Given the description of an element on the screen output the (x, y) to click on. 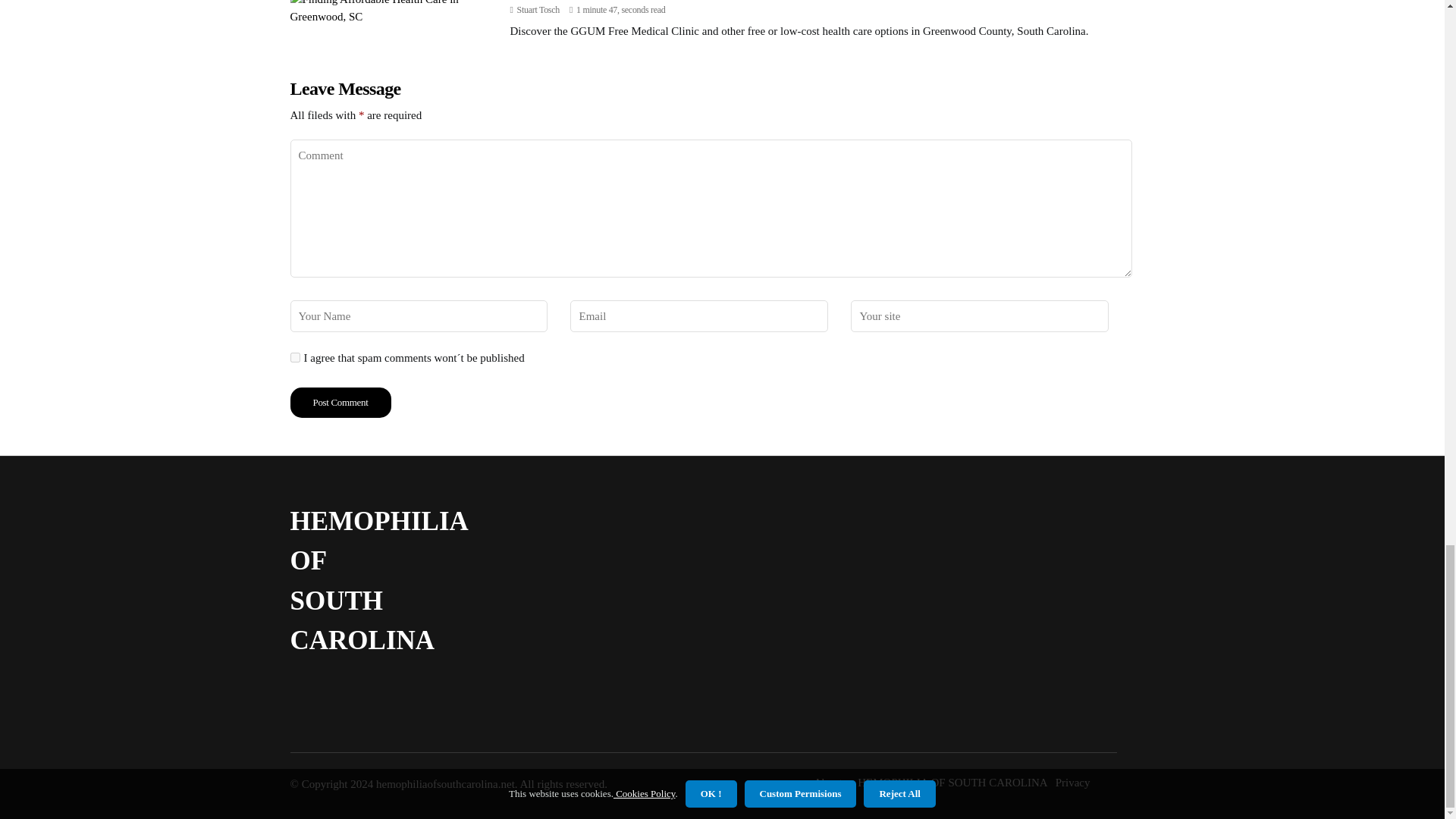
Post Comment (339, 402)
Stuart Tosch (537, 9)
Posts by Stuart Tosch (537, 9)
yes (294, 357)
Post Comment (339, 402)
